Given the description of an element on the screen output the (x, y) to click on. 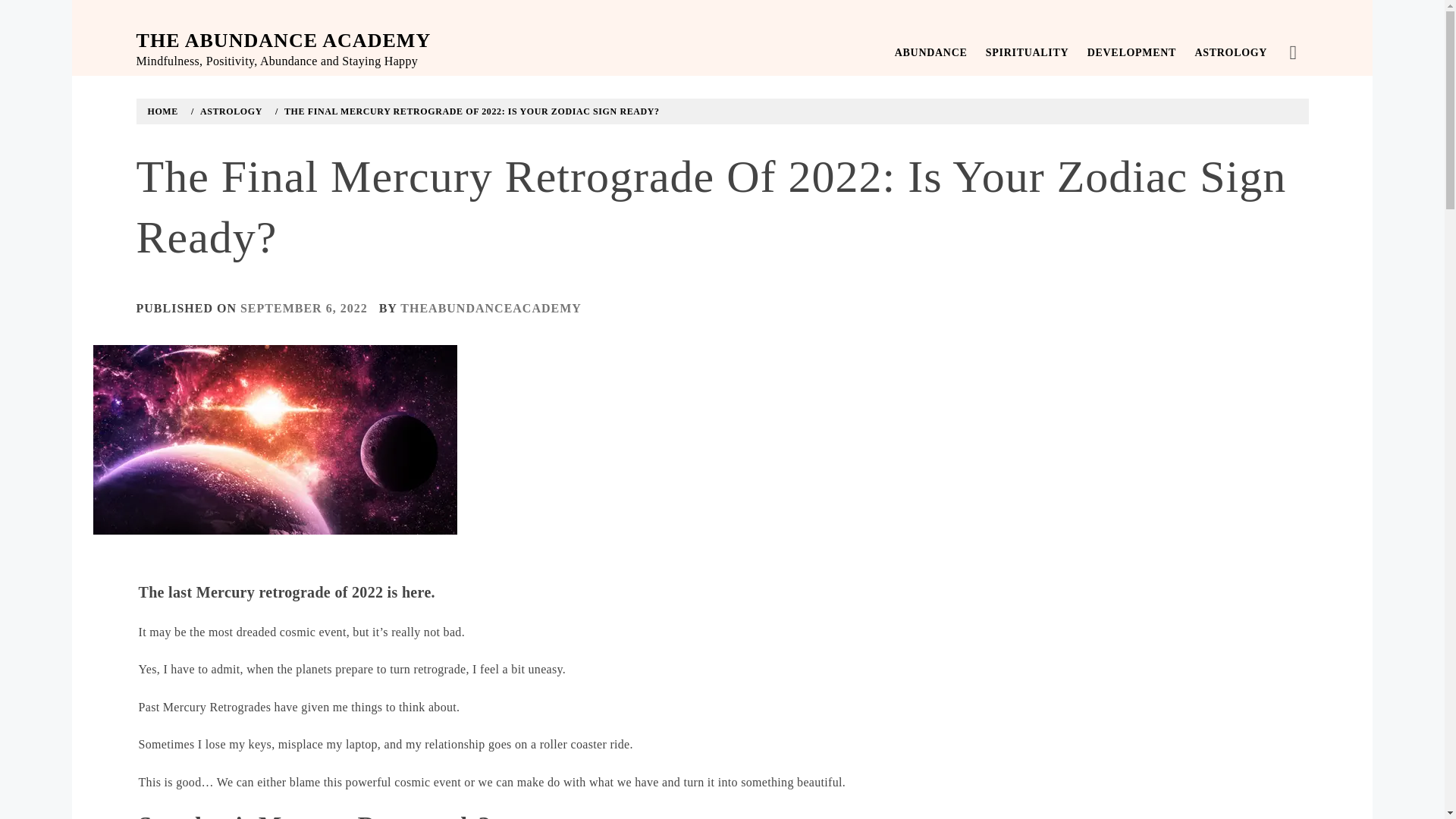
SEPTEMBER 6, 2022 (304, 308)
SPIRITUALITY (1027, 53)
THE ABUNDANCE ACADEMY (283, 40)
HOME (165, 111)
Search (646, 37)
ABUNDANCE (930, 53)
ASTROLOGY (1230, 53)
ASTROLOGY (228, 111)
DEVELOPMENT (1131, 53)
